Given the description of an element on the screen output the (x, y) to click on. 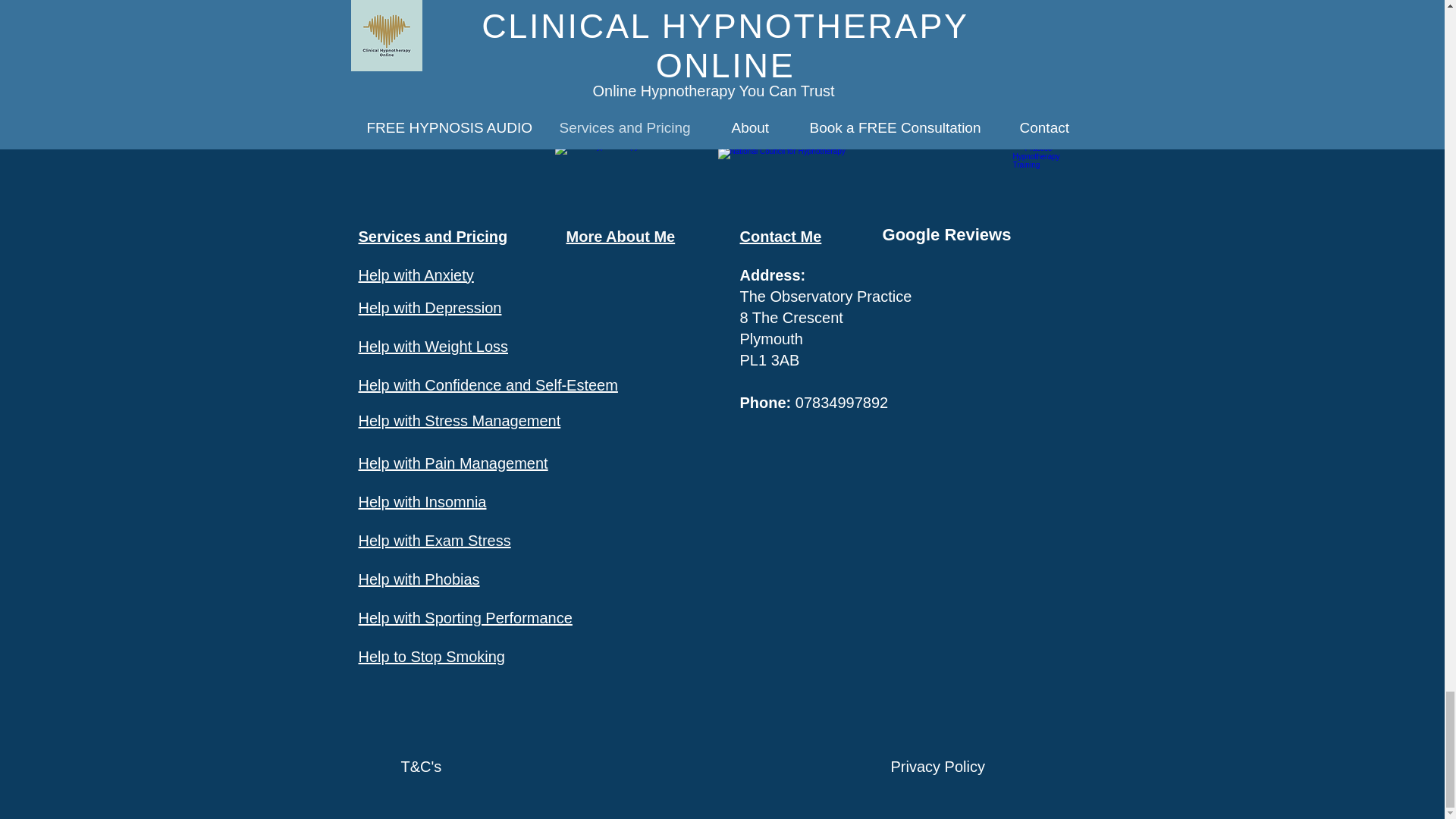
Help with Anxiety (415, 274)
Help with Depression (429, 307)
Help with Weight Loss (433, 346)
More About Me (620, 236)
Services and Pricing (432, 236)
